Given the description of an element on the screen output the (x, y) to click on. 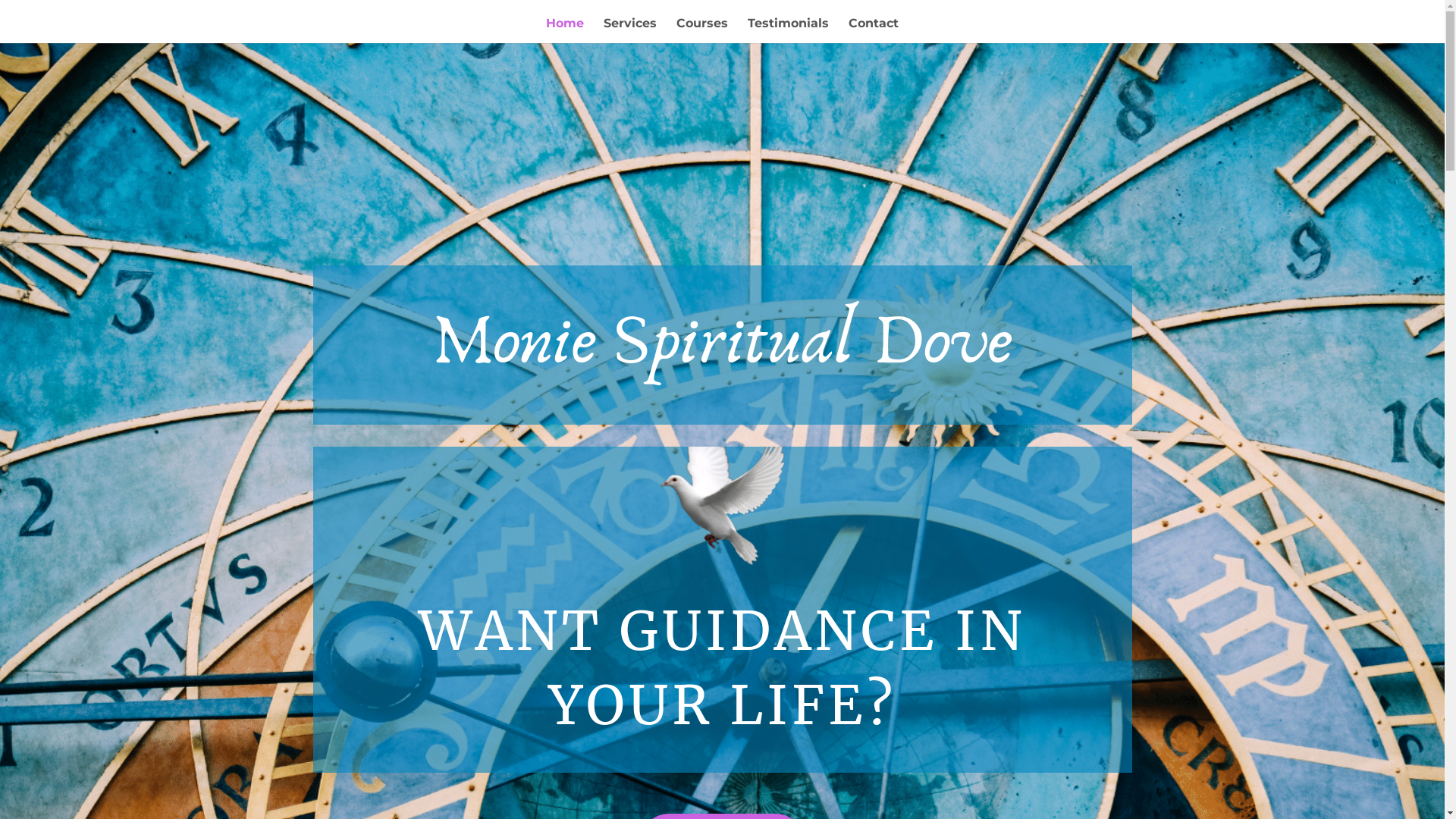
Courses Element type: text (702, 30)
Home Element type: text (564, 30)
Contact Element type: text (873, 30)
Testimonials Element type: text (787, 30)
Services Element type: text (629, 30)
